Given the description of an element on the screen output the (x, y) to click on. 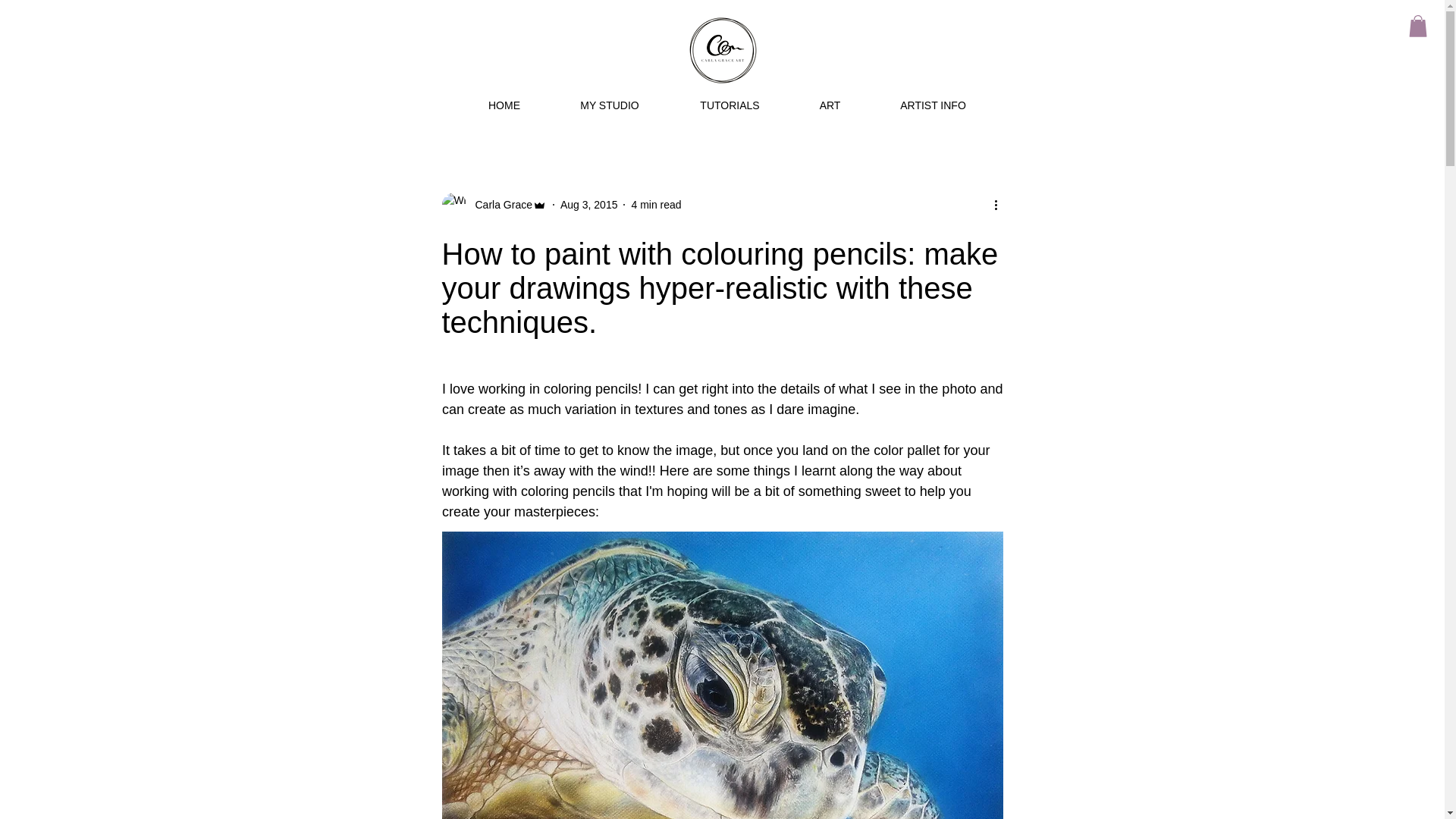
4 min read (655, 204)
ARTIST INFO (932, 105)
ART (829, 105)
Carla Grace (493, 204)
MY STUDIO (609, 105)
HOME (505, 105)
Aug 3, 2015 (588, 204)
TUTORIALS (729, 105)
Carla Grace (498, 204)
